Given the description of an element on the screen output the (x, y) to click on. 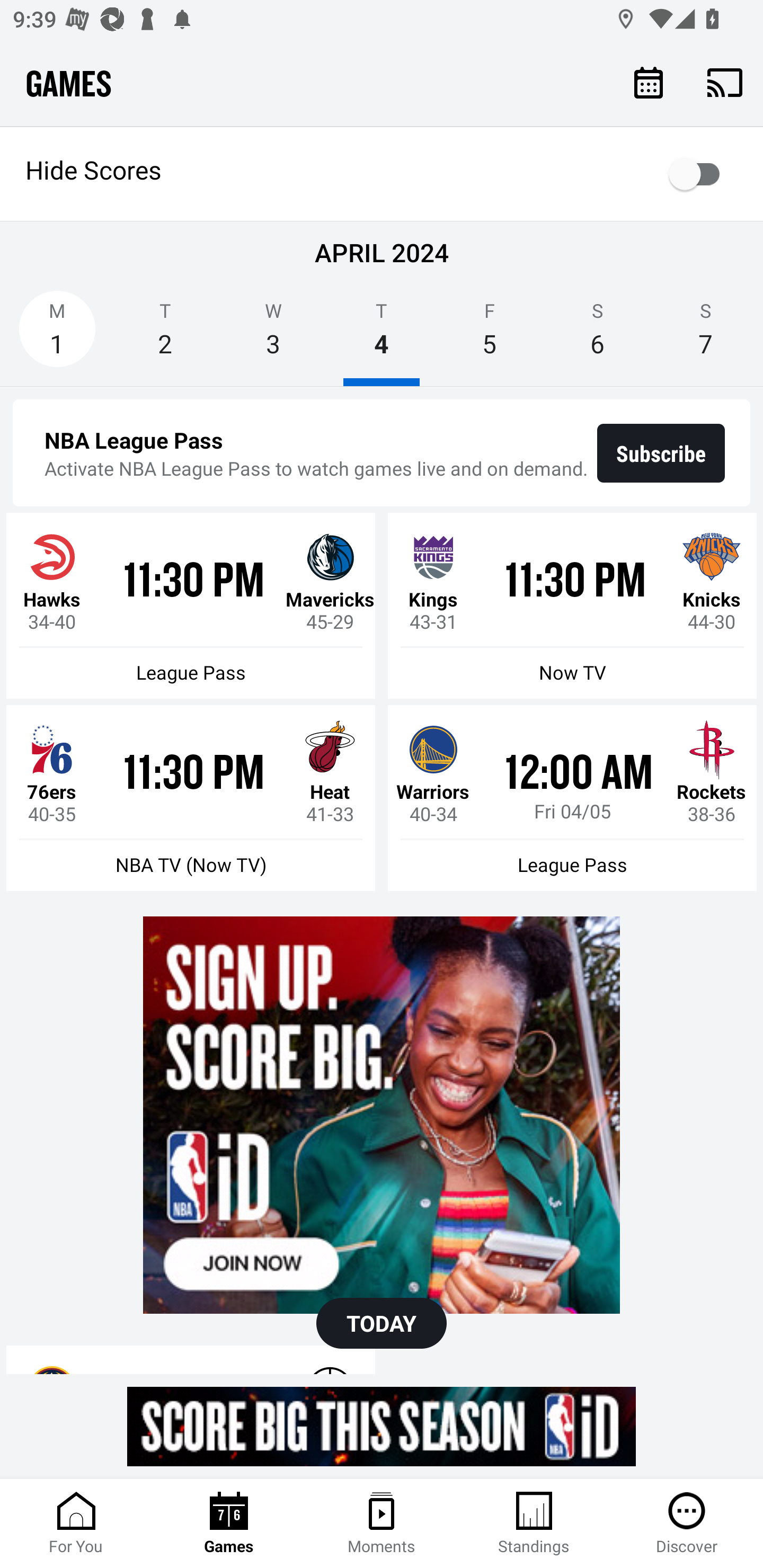
Cast. Disconnected (724, 82)
Calendar (648, 81)
Hide Scores (381, 174)
M 1 (57, 334)
T 2 (165, 334)
W 3 (273, 334)
T 4 (381, 334)
F 5 (489, 334)
S 6 (597, 334)
S 7 (705, 334)
Subscribe (660, 452)
Hawks 34-40 11:30 PM Mavericks 45-29 League Pass (190, 605)
Kings 43-31 11:30 PM Knicks 44-30 Now TV (571, 605)
76ers 40-35 11:30 PM Heat 41-33 NBA TV (Now TV) (190, 797)
g5nqqygr7owph (381, 1114)
g5nqqygr7owph (381, 1114)
TODAY (381, 1323)
g5nqqygr7owph (381, 1426)
For You (76, 1523)
Moments (381, 1523)
Standings (533, 1523)
Discover (686, 1523)
